Given the description of an element on the screen output the (x, y) to click on. 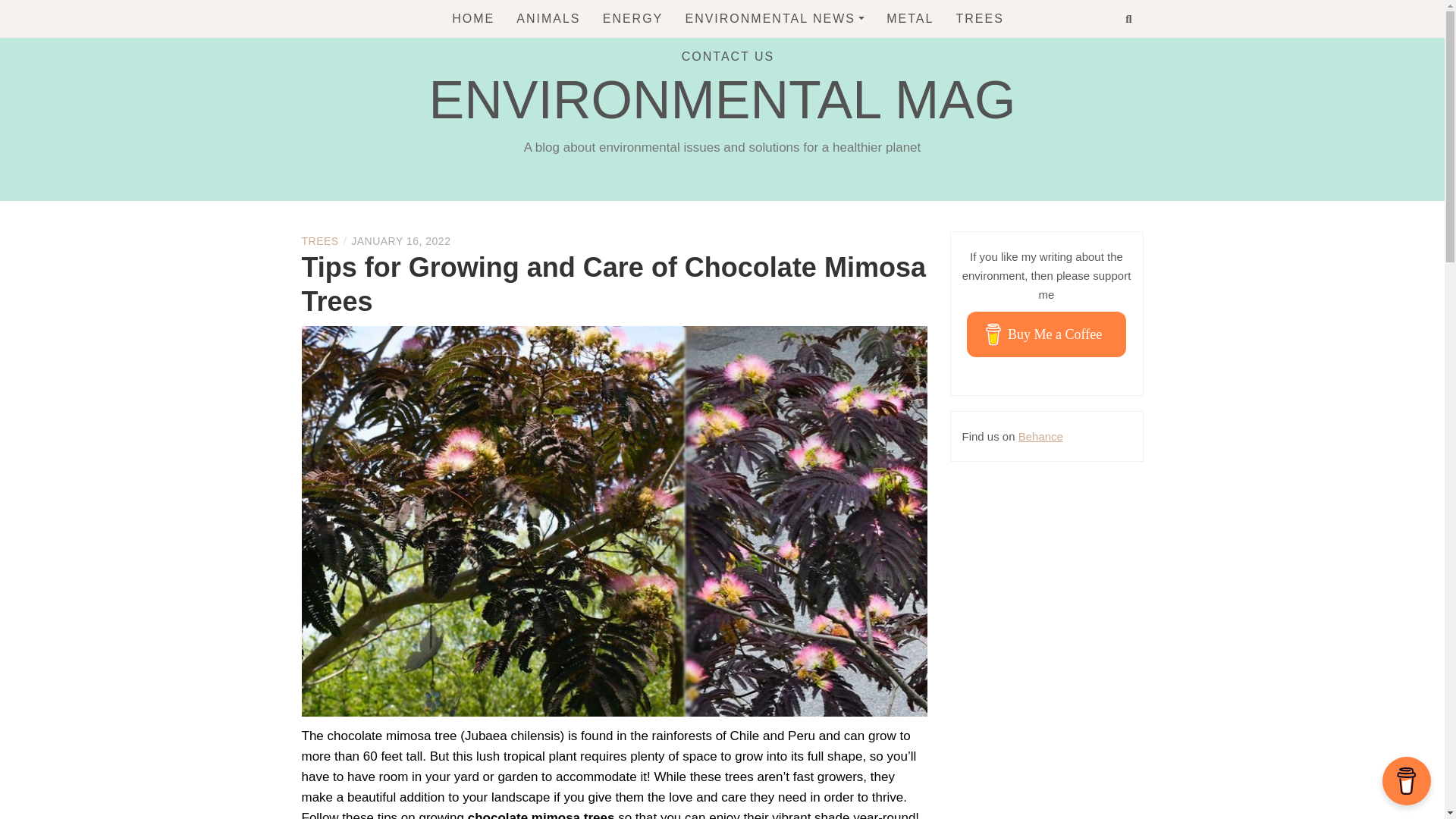
TREES (980, 18)
Behance (1039, 436)
ENVIRONMENTAL NEWS (774, 18)
ENVIRONMENTAL MAG (722, 99)
Buy Me a Coffee (1045, 334)
HOME (473, 18)
ANIMALS (547, 18)
FRUITS (767, 115)
CONTACT US (727, 56)
GARDENING (767, 52)
FLOWERS (767, 83)
ENERGY (632, 18)
TREES (320, 241)
METAL (909, 18)
